Given the description of an element on the screen output the (x, y) to click on. 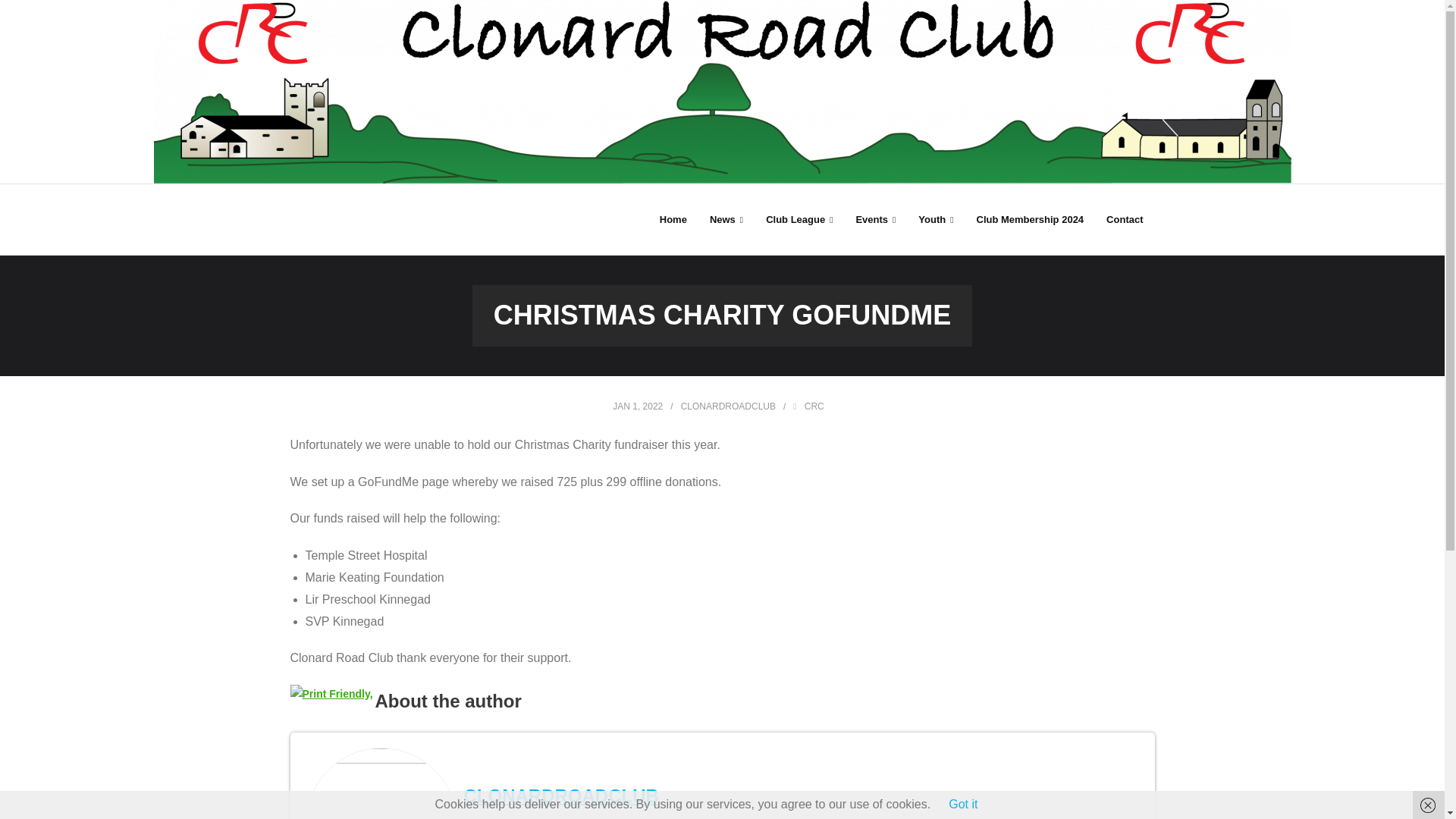
Christmas Charity Gofundme (637, 406)
View all posts by clonardroadclub (728, 406)
Posts by clonardroadclub (561, 795)
